Given the description of an element on the screen output the (x, y) to click on. 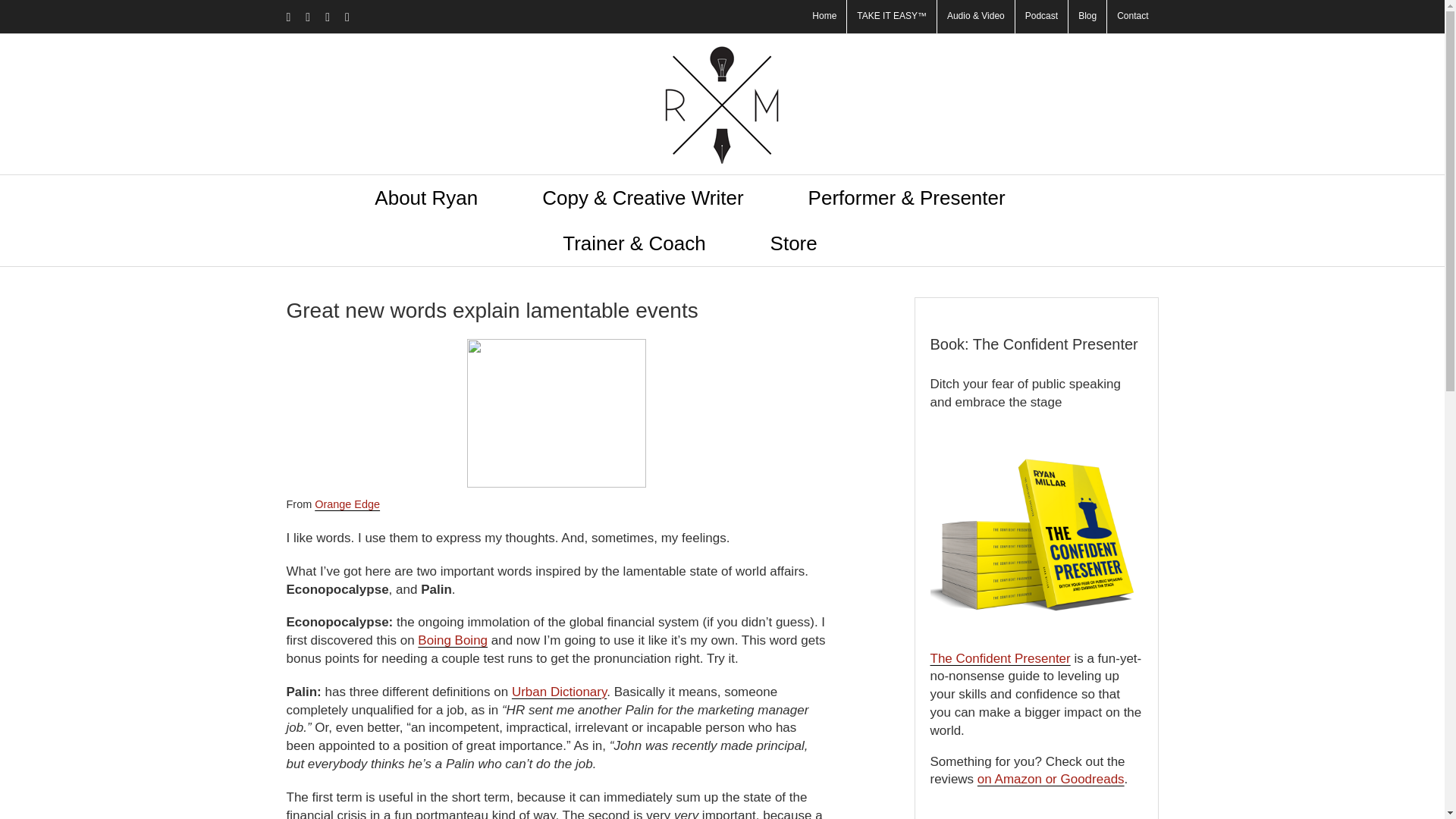
Store (793, 243)
The Confident Presenter (1000, 658)
Podcast (1040, 16)
Home (823, 16)
About Ryan (425, 197)
Urban Dictionary (559, 691)
on Amazon or Goodreads (1050, 779)
Contact (1131, 16)
Orange Edge (347, 503)
Boing Boing (452, 640)
